Given the description of an element on the screen output the (x, y) to click on. 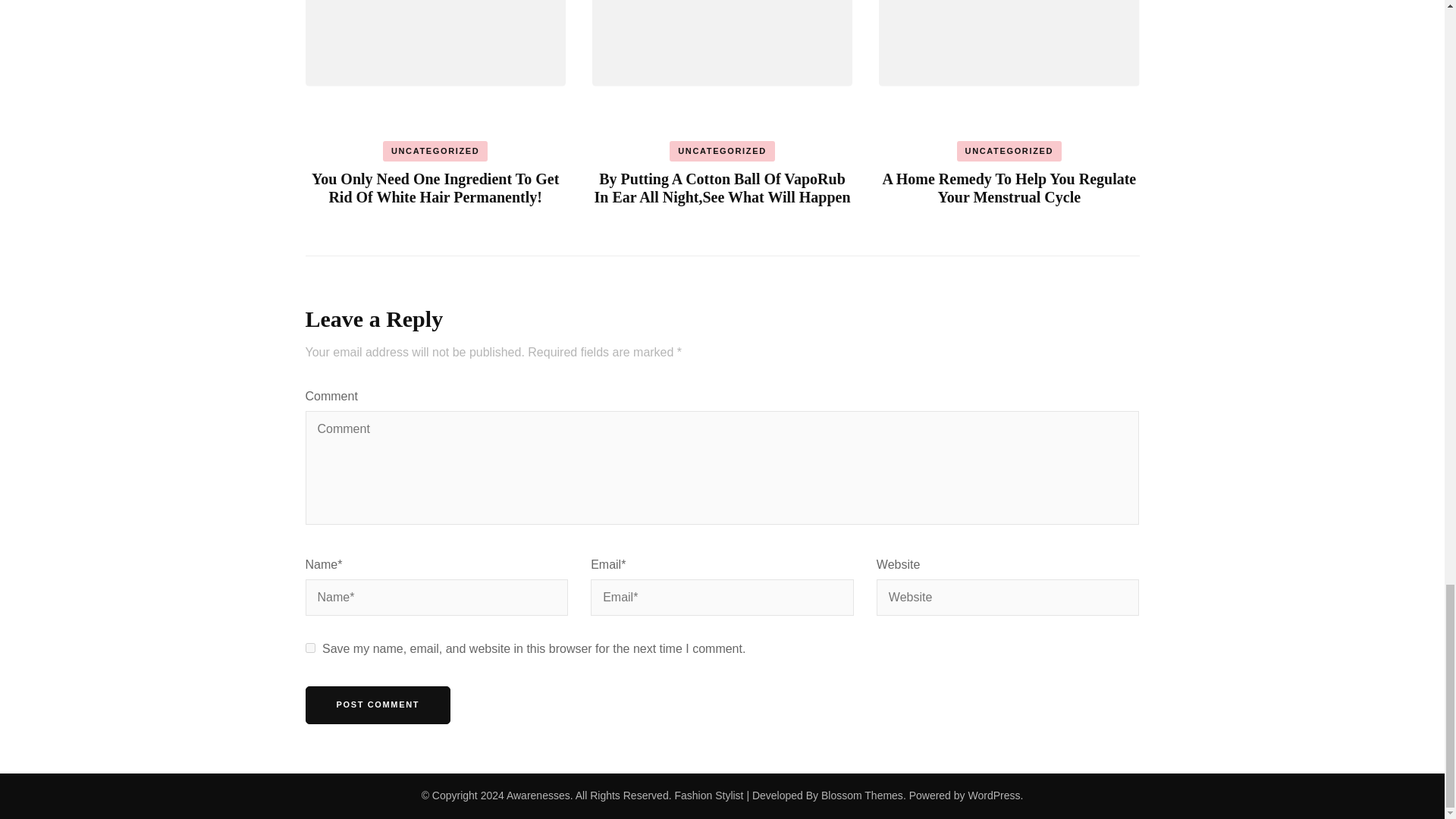
Post Comment (376, 704)
UNCATEGORIZED (721, 151)
UNCATEGORIZED (434, 151)
yes (309, 647)
